Given the description of an element on the screen output the (x, y) to click on. 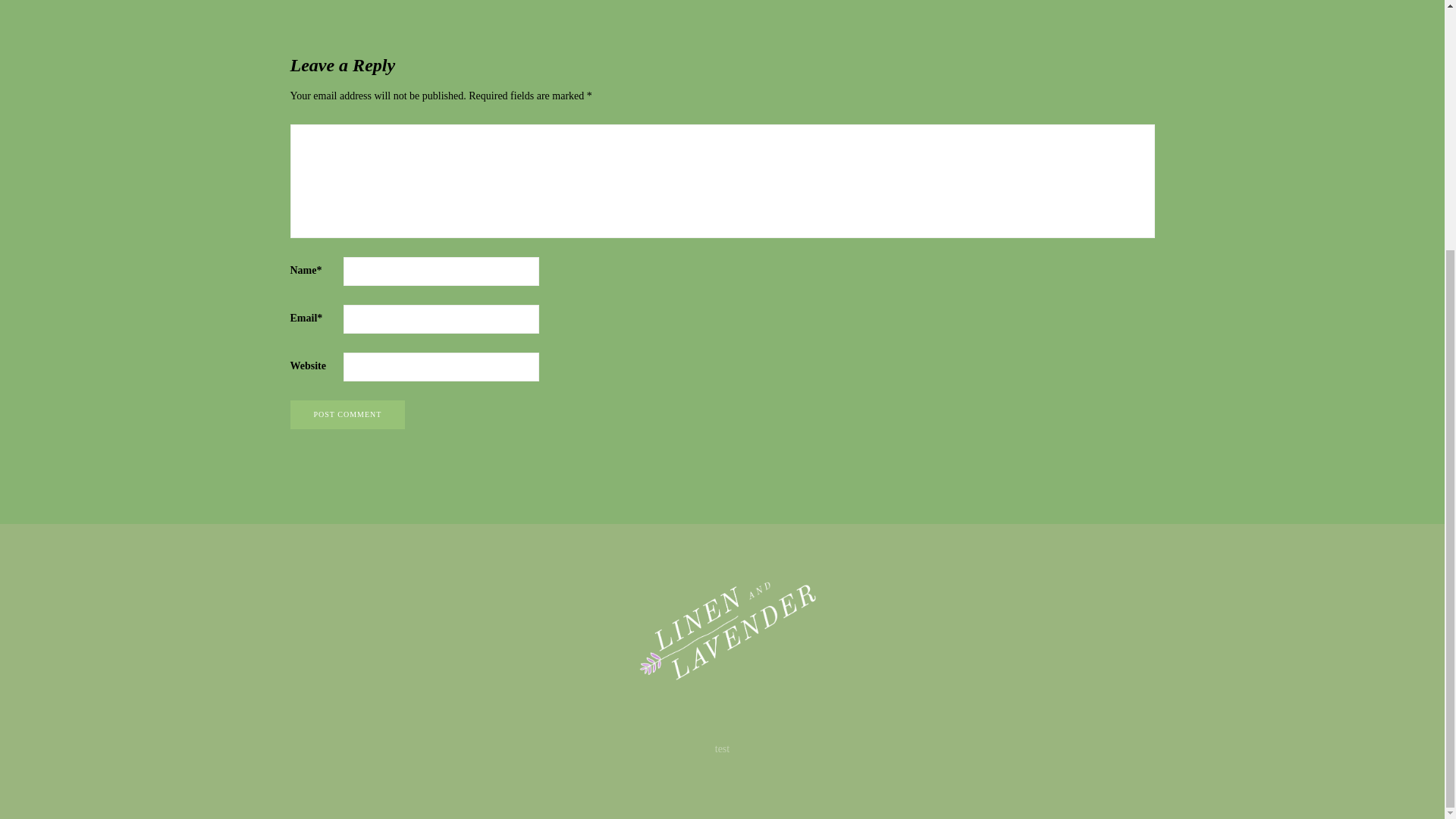
Post comment (346, 414)
Post comment (346, 414)
